Given the description of an element on the screen output the (x, y) to click on. 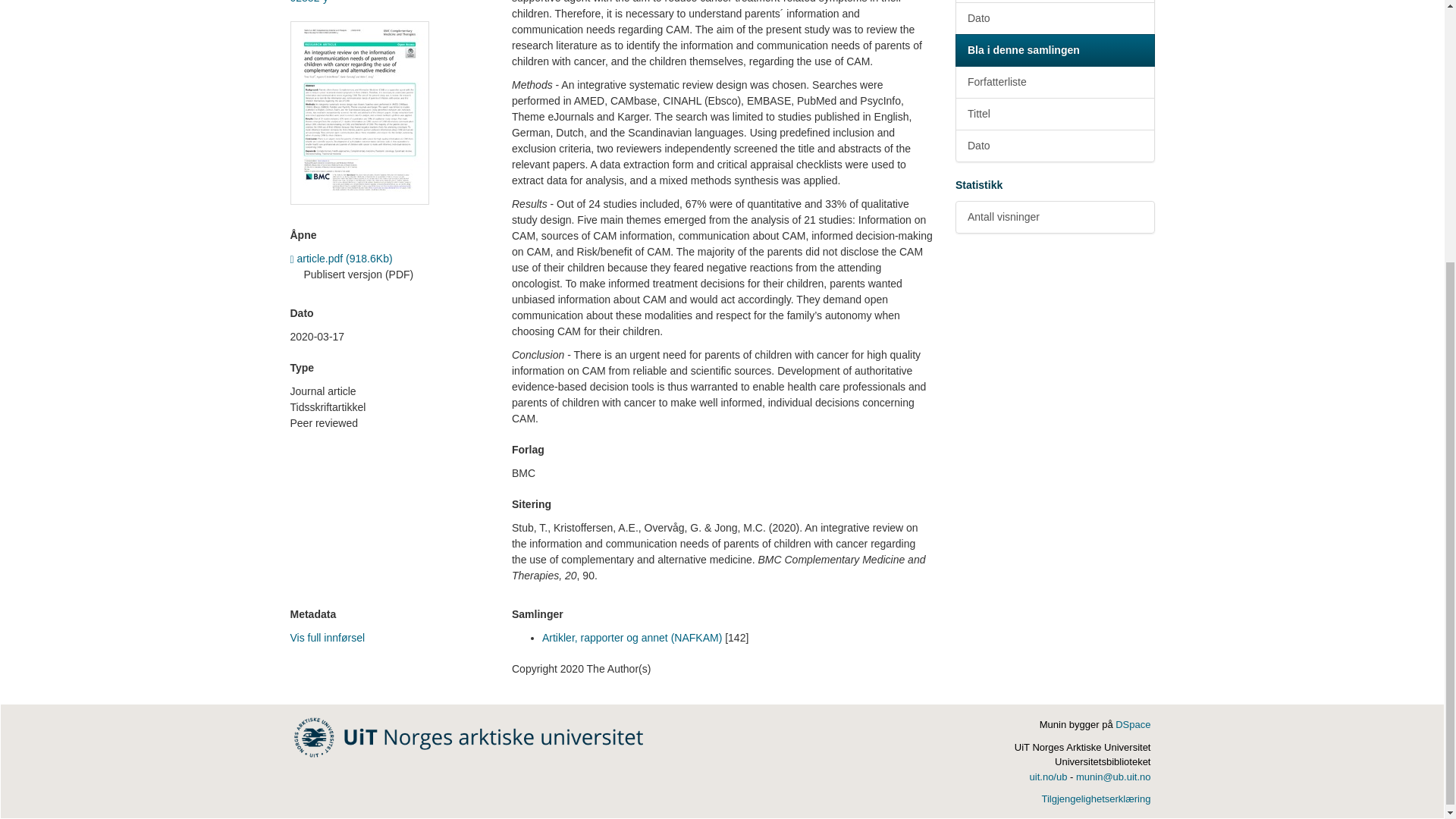
UiT (468, 736)
Tittel (1054, 1)
Forfatterliste (1054, 82)
Dato (1054, 18)
Bla i denne samlingen (1054, 50)
